Given the description of an element on the screen output the (x, y) to click on. 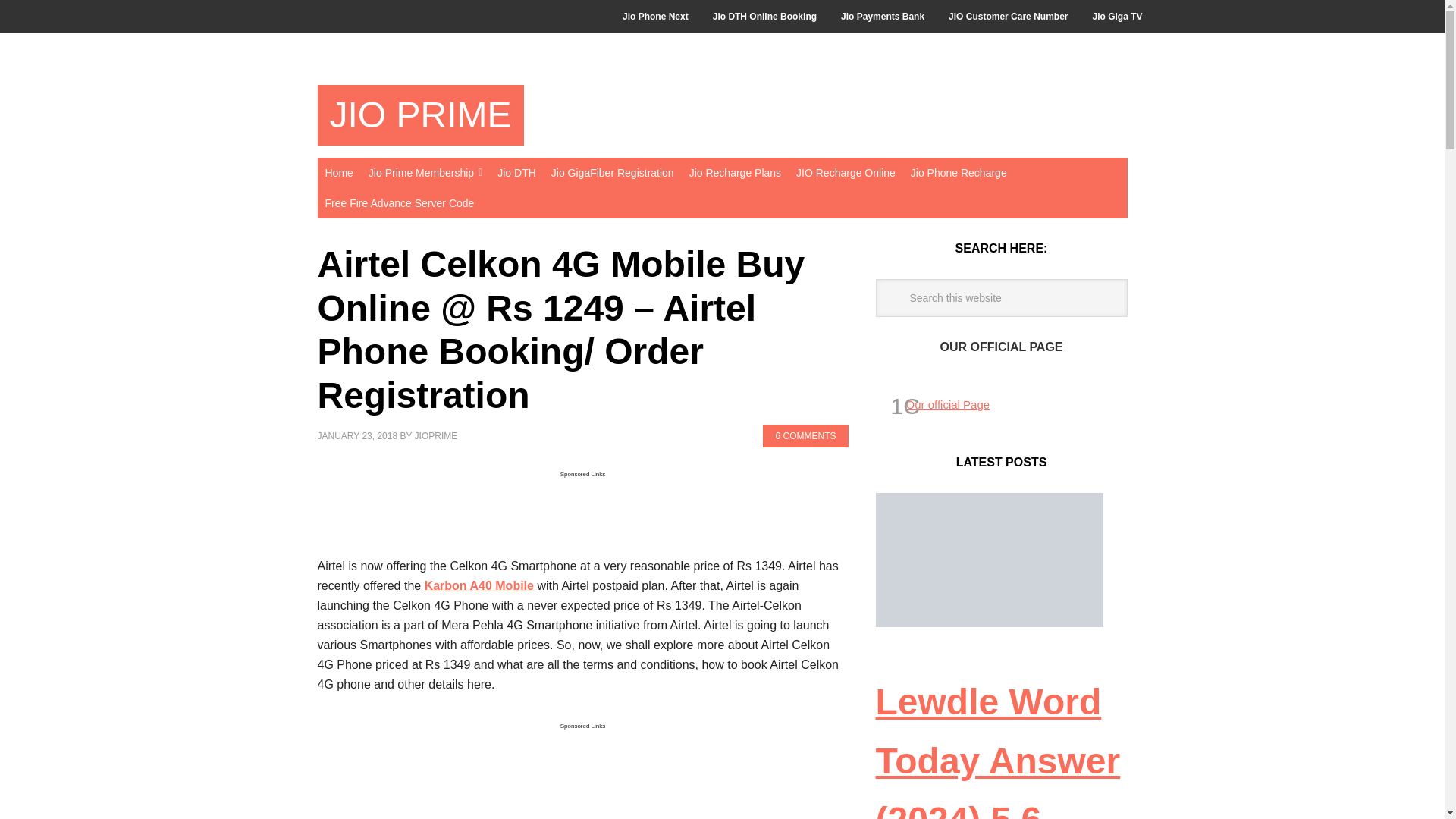
Jio DTH (516, 173)
Jio Phone Next (655, 16)
6 COMMENTS (804, 436)
Jio Prime Membership (425, 173)
Karbon A40 Mobile (479, 585)
Home (338, 173)
Jio Payments Bank (882, 16)
JIO Customer Care Number (1008, 16)
JIO Recharge Online (845, 173)
Jio Recharge Plans (735, 173)
JIOPRIME (436, 435)
Jio GigaFiber Registration (612, 173)
Jio Giga TV (1117, 16)
